Given the description of an element on the screen output the (x, y) to click on. 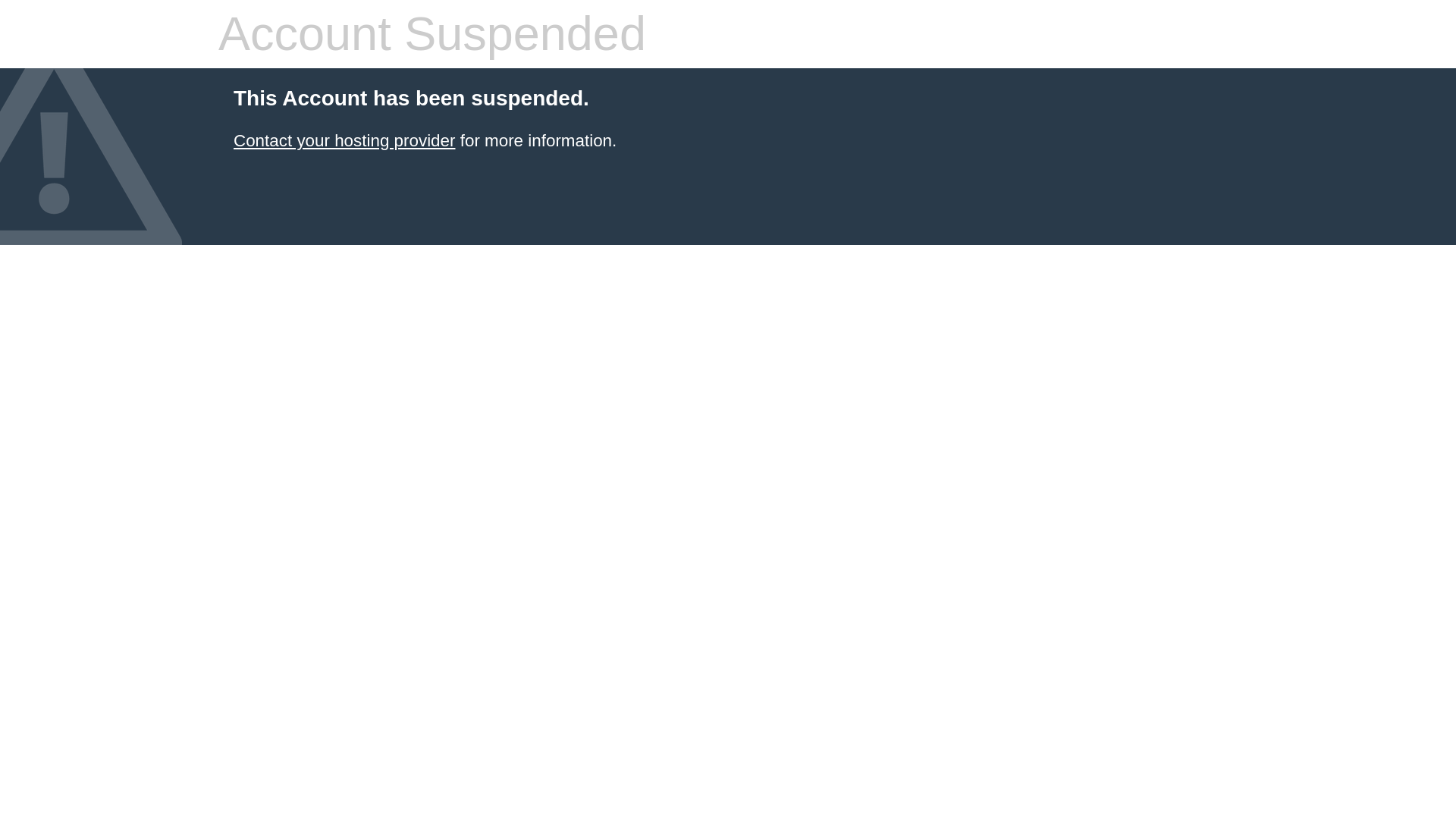
Contact your hosting provider (343, 140)
